Given the description of an element on the screen output the (x, y) to click on. 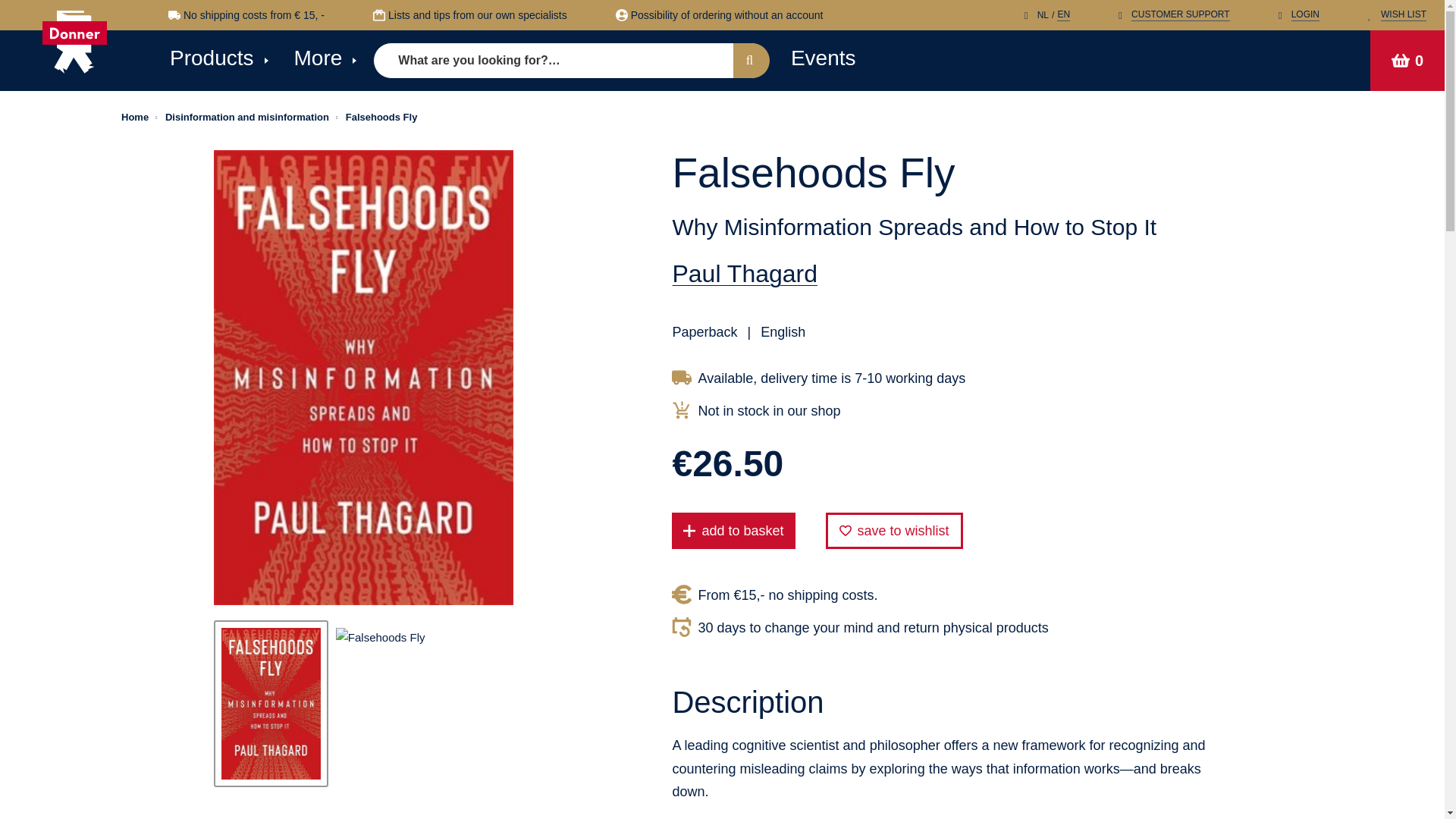
Disinformation and misinformation (247, 117)
Home (74, 41)
Falsehoods Fly (381, 117)
Falsehoods Fly (380, 637)
